Given the description of an element on the screen output the (x, y) to click on. 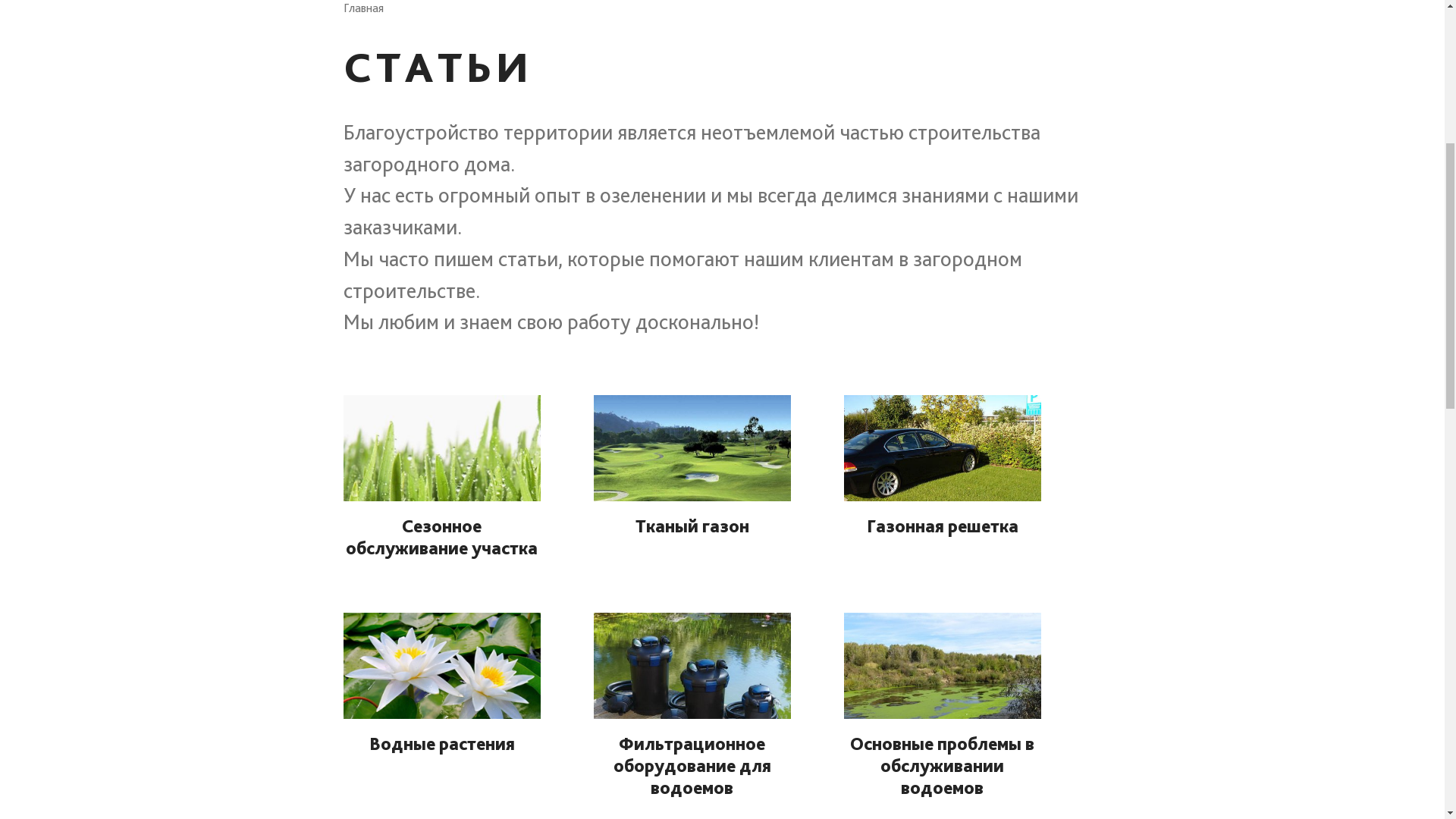
+375 33 352-8000 Element type: text (1042, 22)
+375 29 352-8000 Element type: text (913, 22)
